Given the description of an element on the screen output the (x, y) to click on. 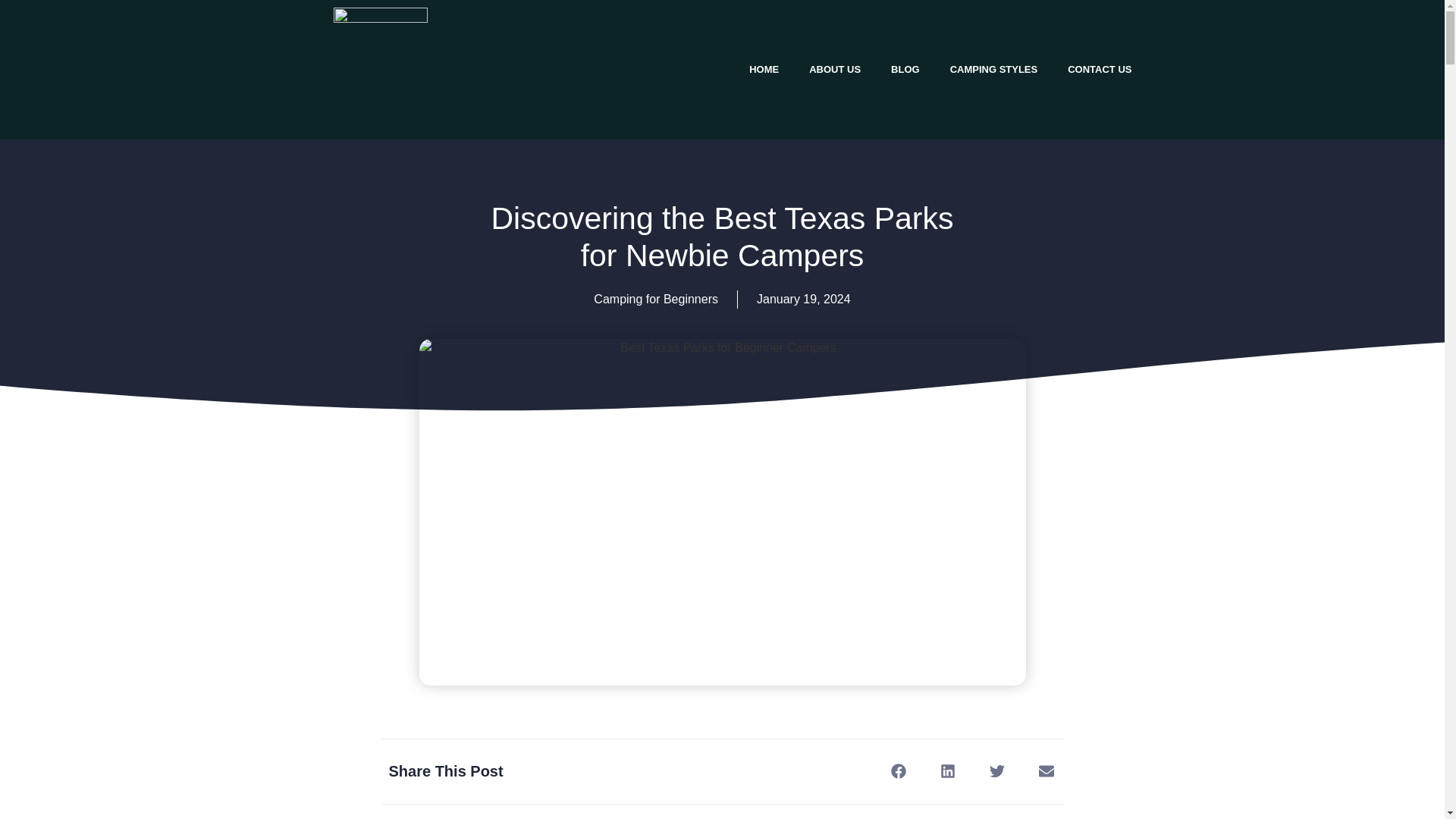
ABOUT US (834, 69)
Camping for Beginners (655, 298)
January 19, 2024 (803, 299)
BLOG (905, 69)
HOME (763, 69)
CAMPING STYLES (993, 69)
CONTACT US (1099, 69)
